Given the description of an element on the screen output the (x, y) to click on. 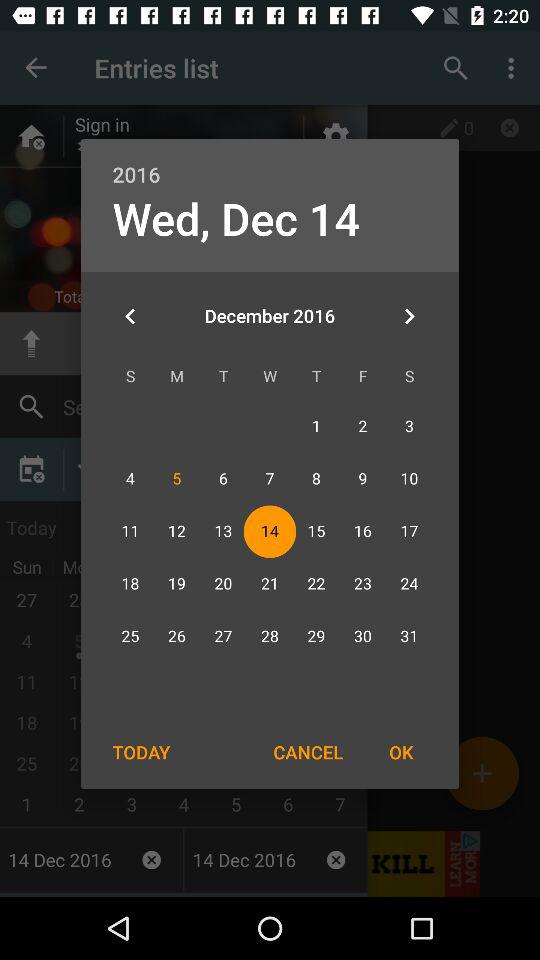
choose the item to the left of ok icon (308, 751)
